Given the description of an element on the screen output the (x, y) to click on. 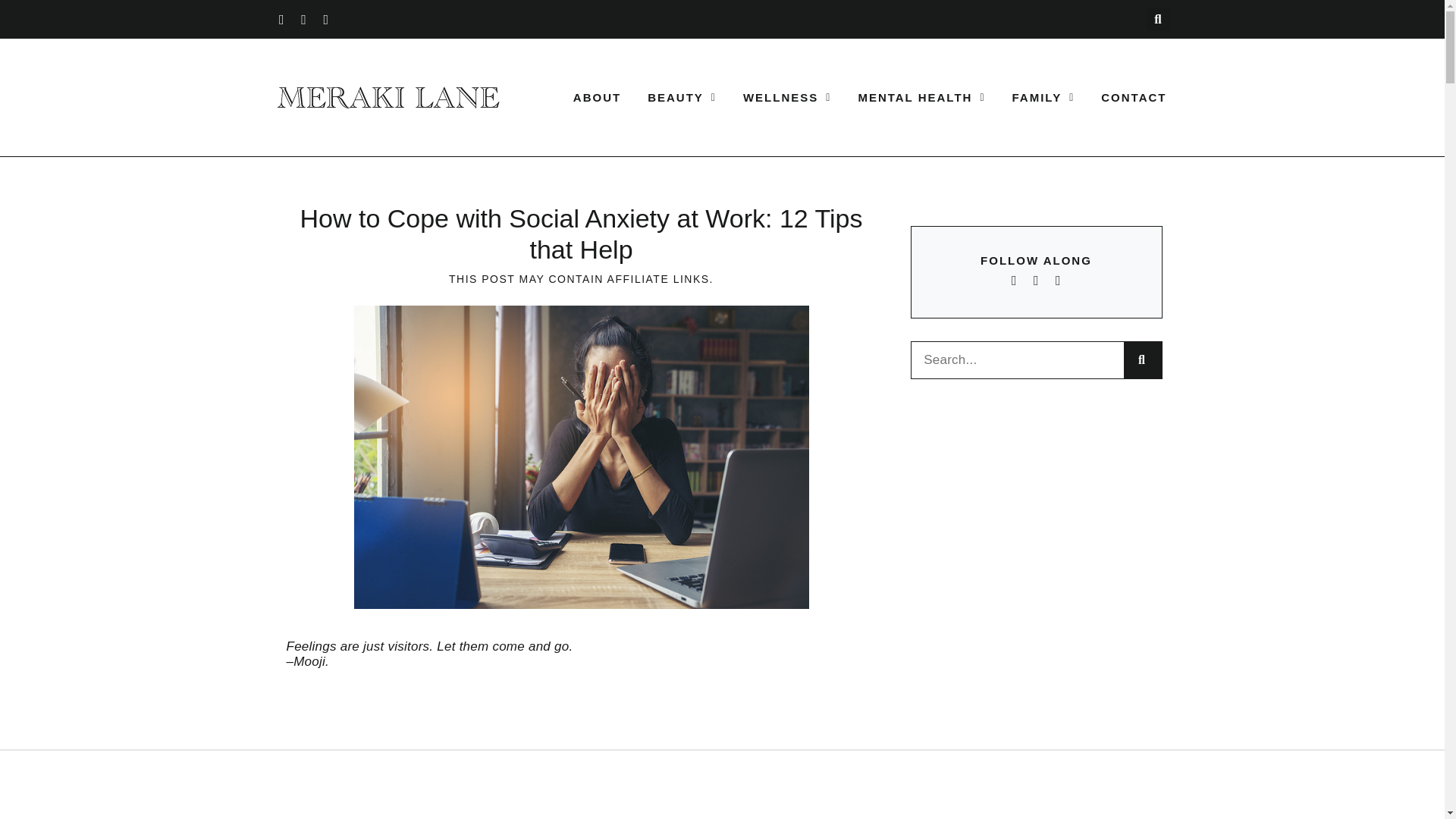
BEAUTY (681, 97)
ABOUT (597, 97)
WELLNESS (786, 97)
